Given the description of an element on the screen output the (x, y) to click on. 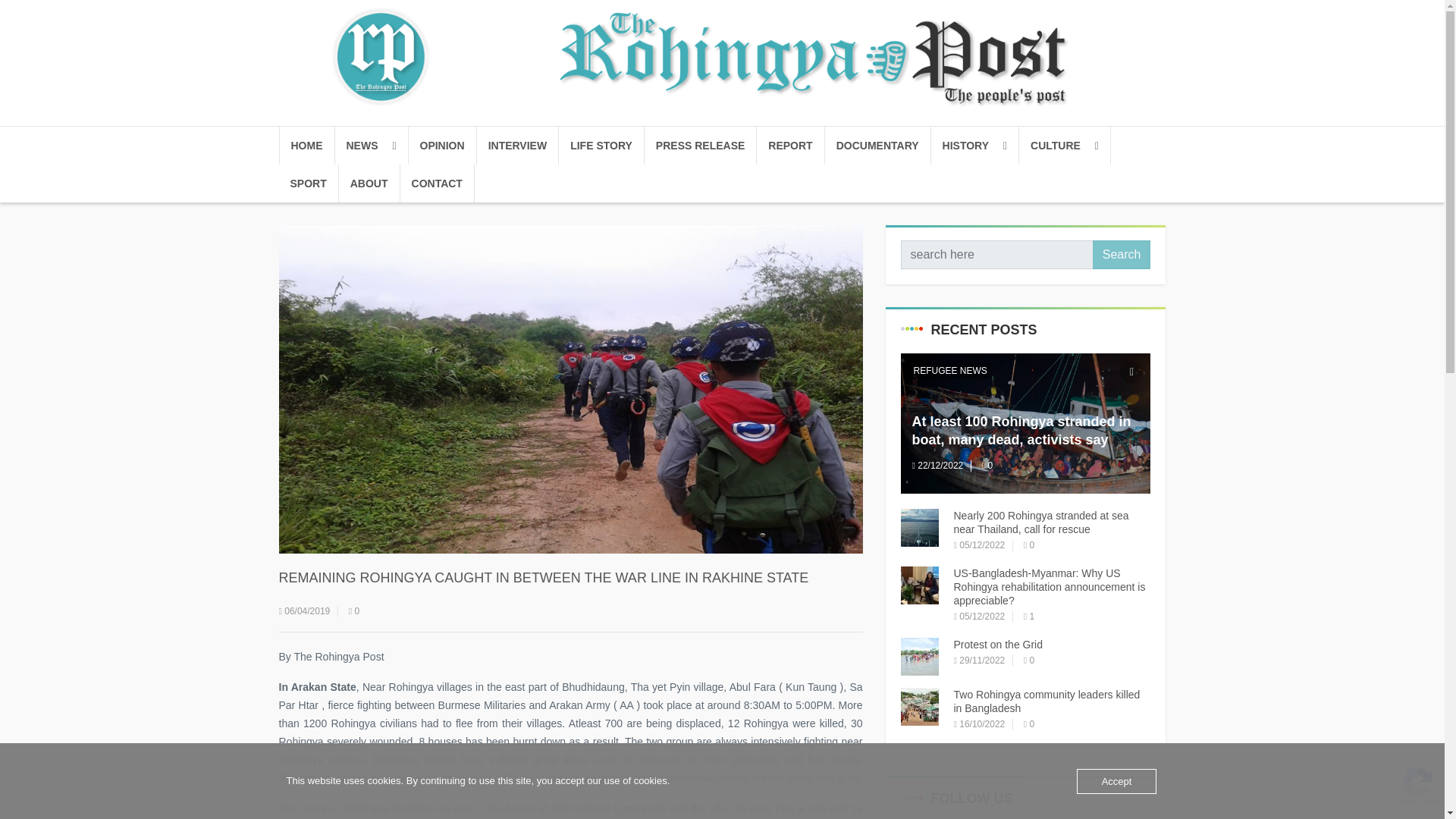
logo (721, 55)
REPORT (790, 145)
0 (354, 611)
DOCUMENTARY (878, 145)
SPORT (309, 183)
ABOUT (369, 183)
LIFE STORY (602, 145)
NEWS (371, 145)
PRESS RELEASE (701, 145)
CULTURE (1064, 145)
HISTORY (975, 145)
INTERVIEW (518, 145)
OPINION (441, 145)
CONTACT (437, 183)
HOME (306, 145)
